Given the description of an element on the screen output the (x, y) to click on. 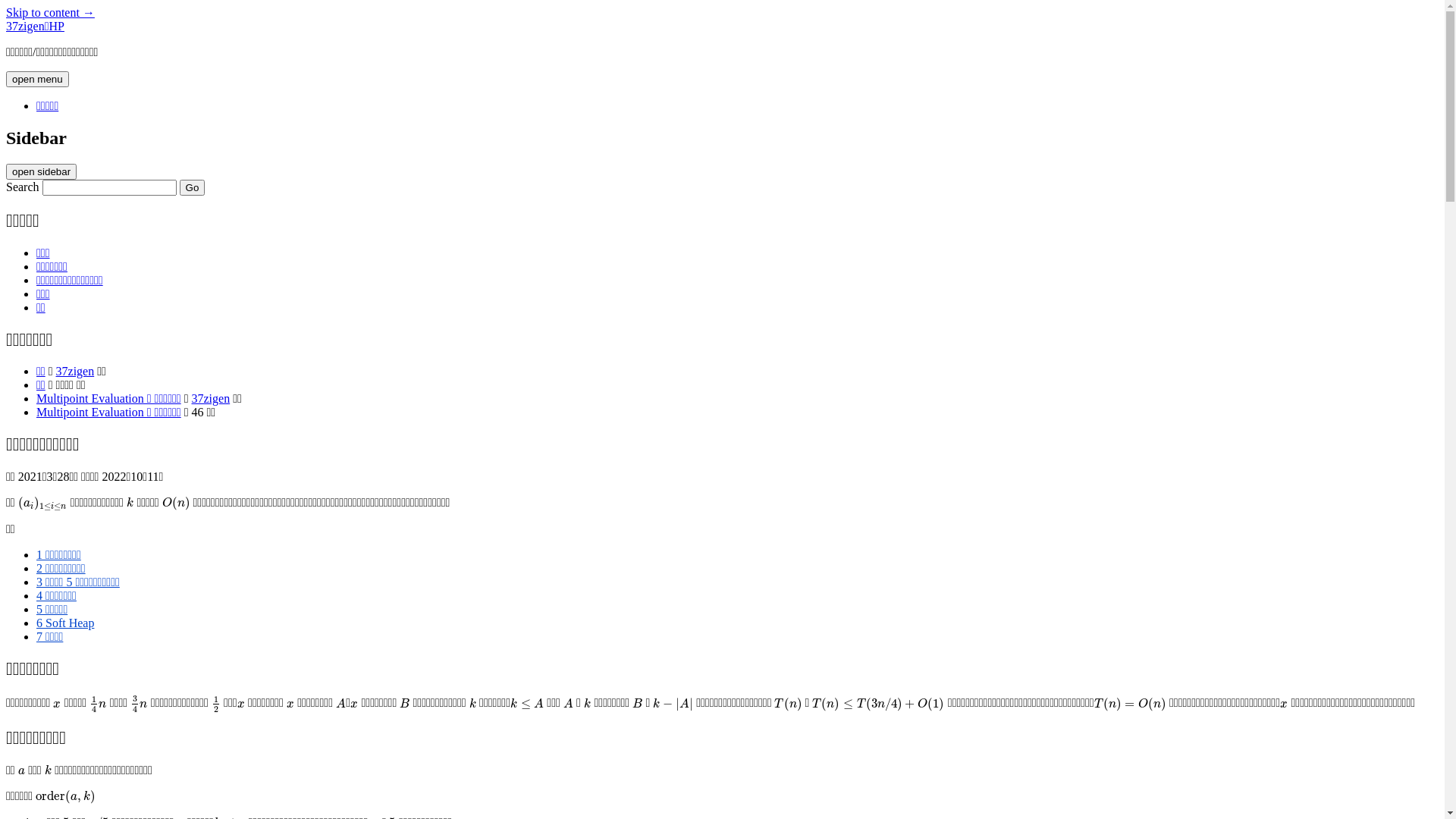
Go Element type: text (192, 187)
6 Soft Heap Element type: text (65, 622)
Search for: Element type: hover (109, 187)
open menu Element type: text (37, 79)
open sidebar Element type: text (41, 171)
37zigen Element type: text (210, 398)
37zigen Element type: text (75, 370)
